Given the description of an element on the screen output the (x, y) to click on. 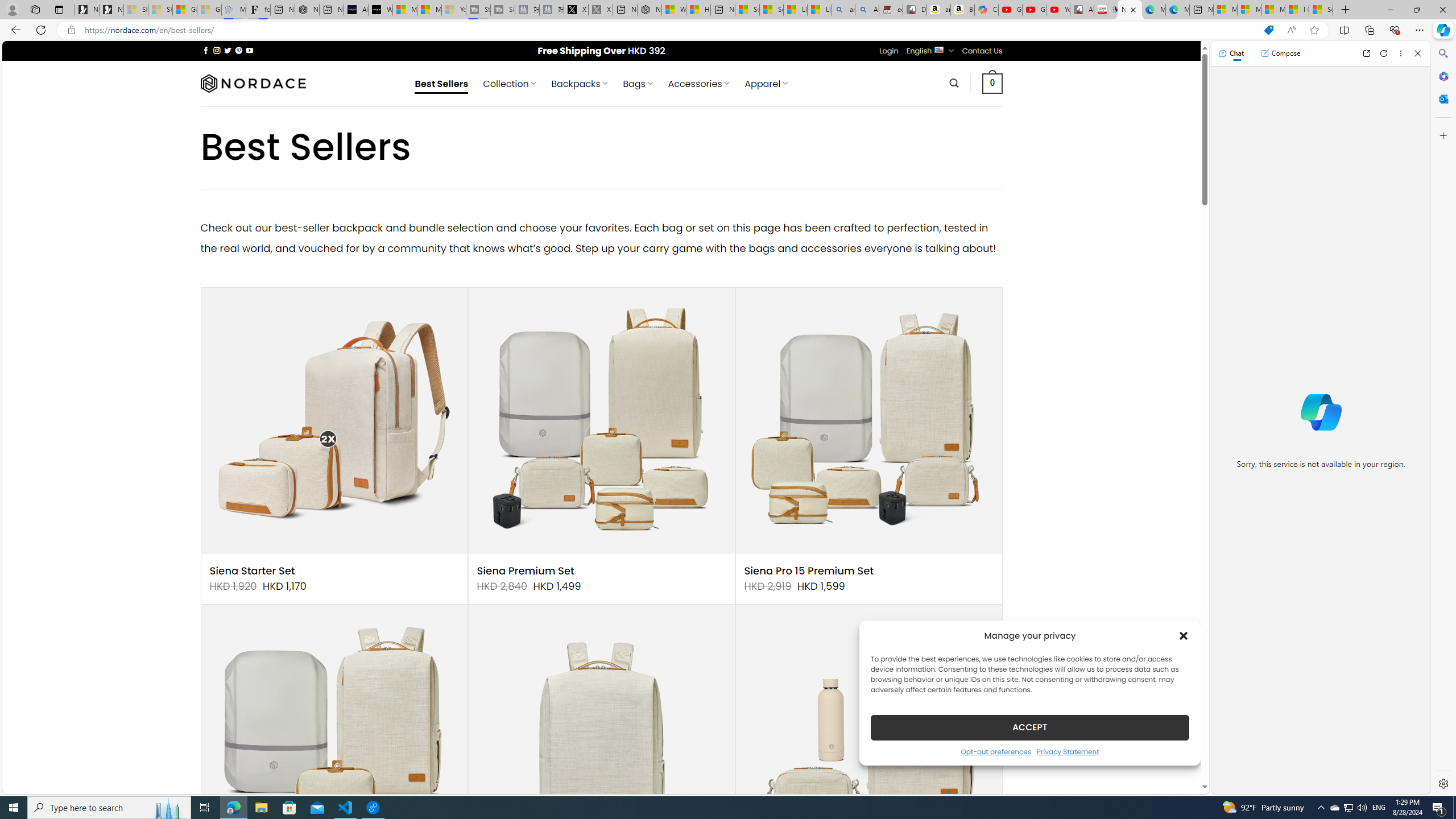
AI Voice Changer for PC and Mac - Voice.ai (355, 9)
